Given the description of an element on the screen output the (x, y) to click on. 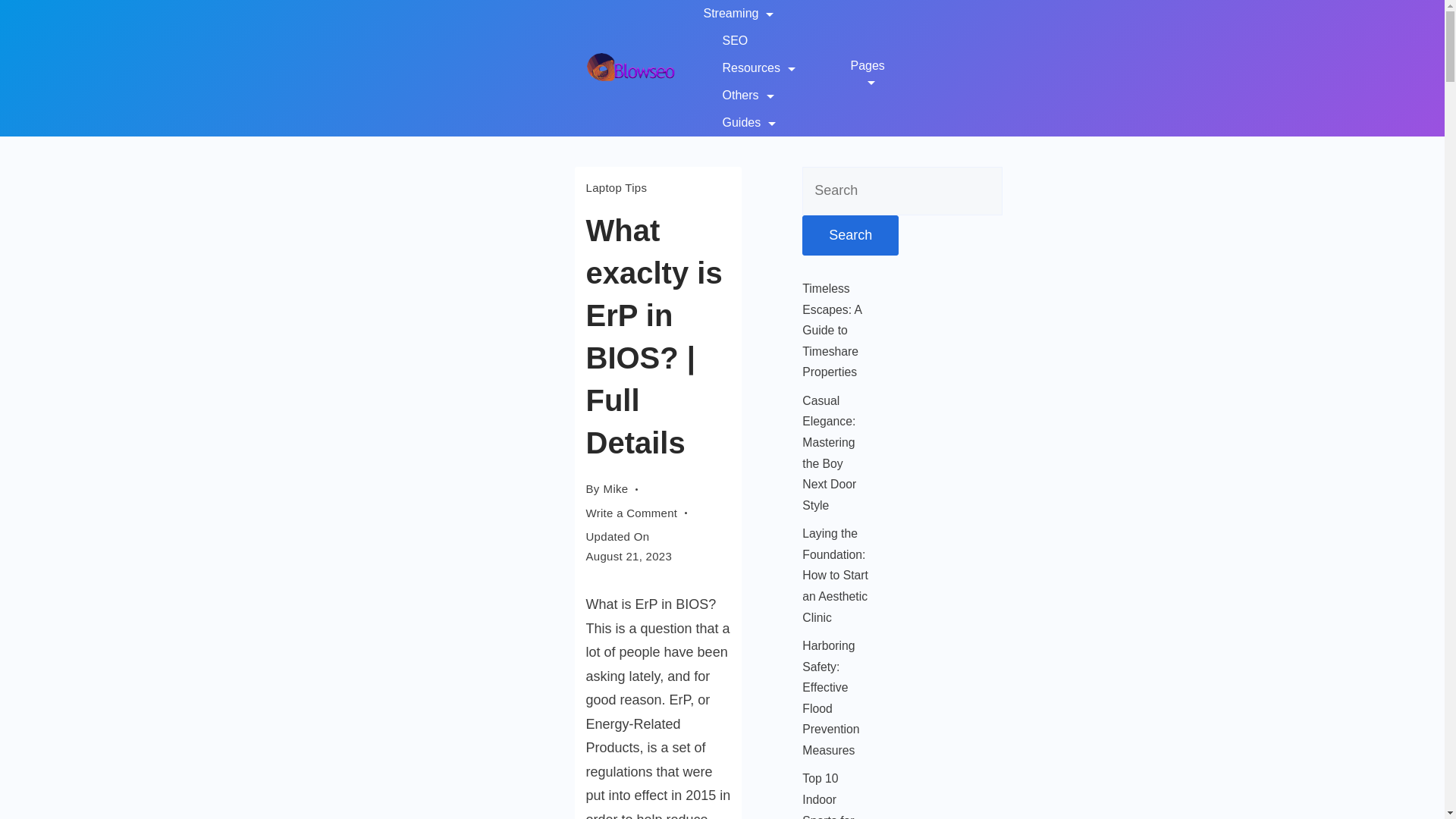
Pages (866, 67)
Search Input (902, 191)
Others (748, 94)
Search (850, 235)
Streaming (748, 13)
Guides (739, 122)
Search (850, 235)
Resources (758, 67)
SEO (735, 40)
